Given the description of an element on the screen output the (x, y) to click on. 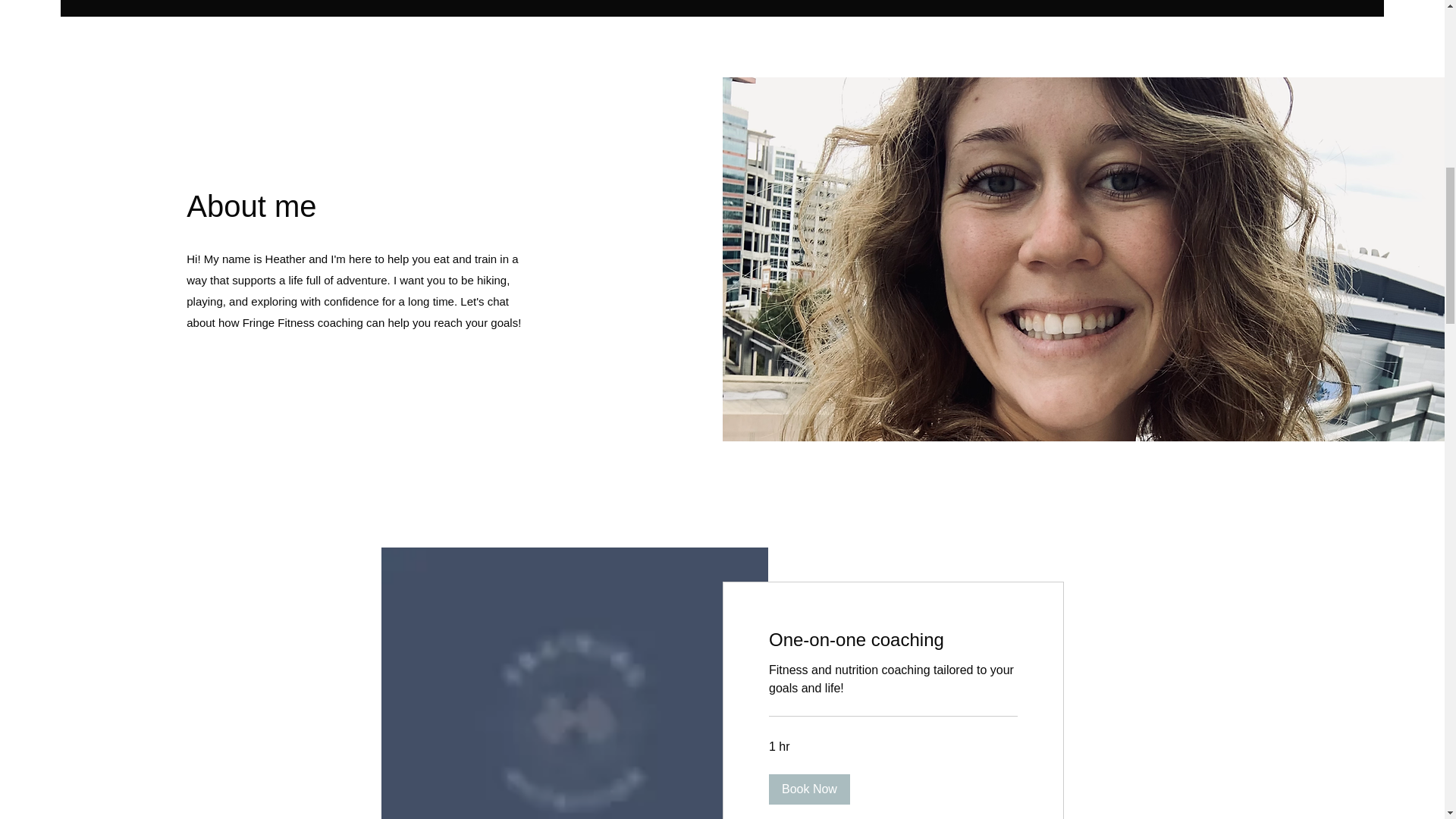
One-on-one coaching (892, 639)
Book Now (809, 788)
